Given the description of an element on the screen output the (x, y) to click on. 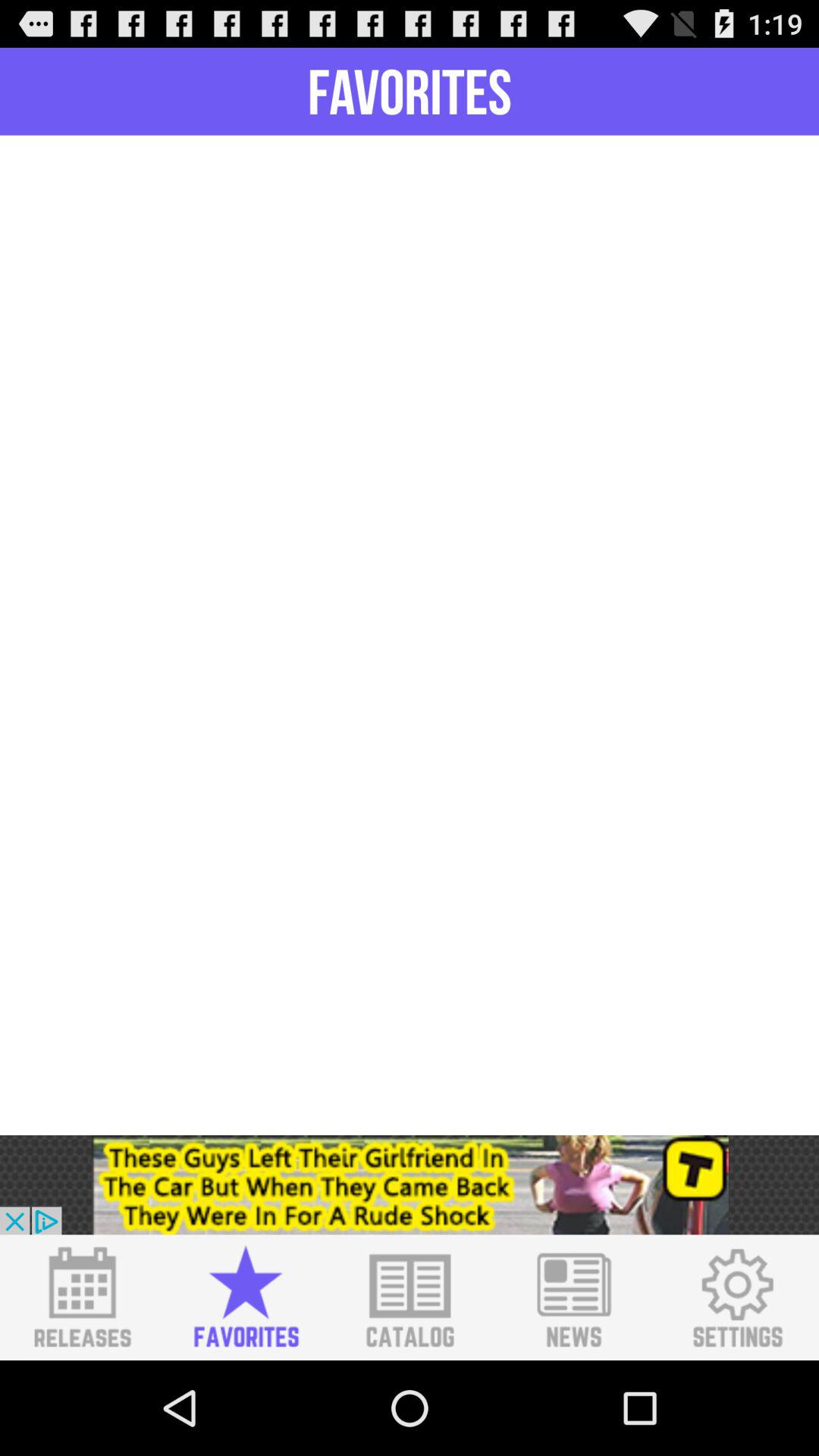
link to advertisement (409, 1184)
